Given the description of an element on the screen output the (x, y) to click on. 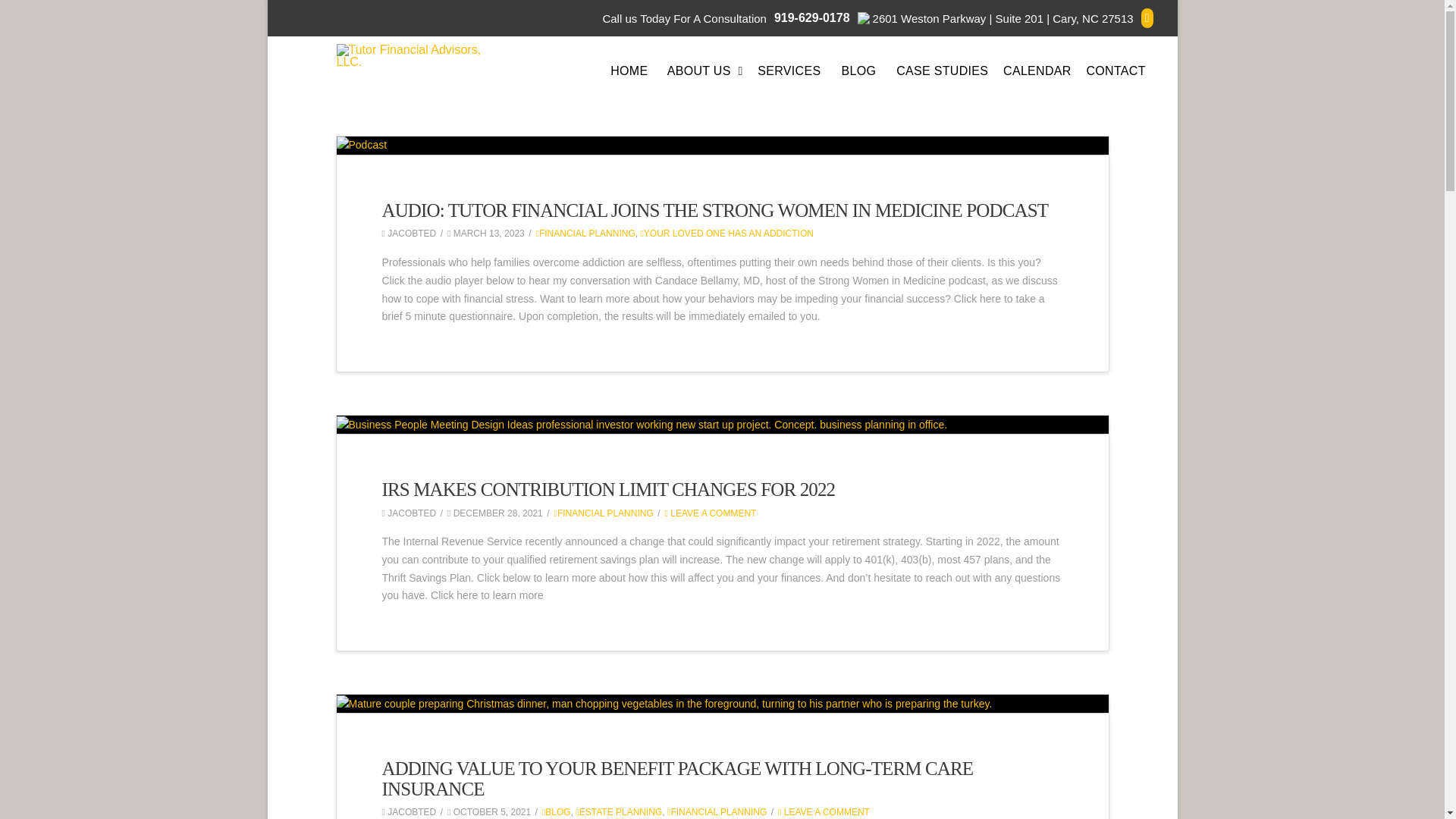
ABOUT US (705, 71)
BLOG (858, 71)
LEAVE A COMMENT (711, 512)
FINANCIAL PLANNING (602, 512)
919-629-0178 (812, 18)
LEAVE A COMMENT (823, 811)
IRS MAKES CONTRIBUTION LIMIT CHANGES FOR 2022 (608, 489)
FINANCIAL PLANNING (584, 233)
FINANCIAL PLANNING (716, 811)
